Given the description of an element on the screen output the (x, y) to click on. 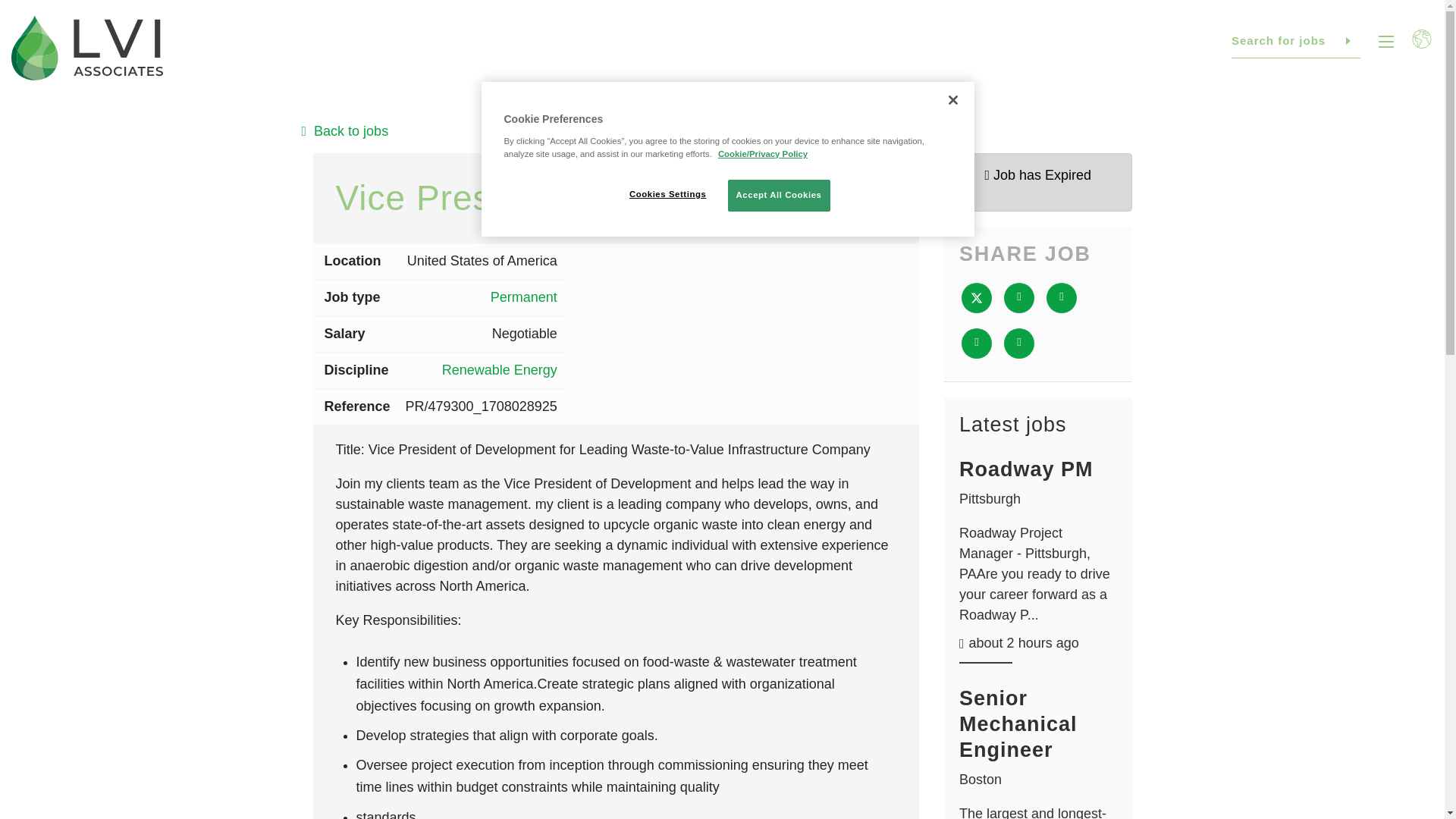
LinkedIn (1256, 715)
LinkedIn (1061, 297)
LVI Associates US (87, 47)
Twitter (1291, 715)
Renewable Energy (499, 370)
Search for jobs (1295, 41)
Go to the Homepage (87, 47)
Email (975, 343)
Instagram (1324, 715)
Facebook (1222, 715)
Facebook (1018, 297)
Go to the Homepage (79, 577)
Twitter (975, 297)
Back to jobs (721, 131)
YouTube (1359, 715)
